Given the description of an element on the screen output the (x, y) to click on. 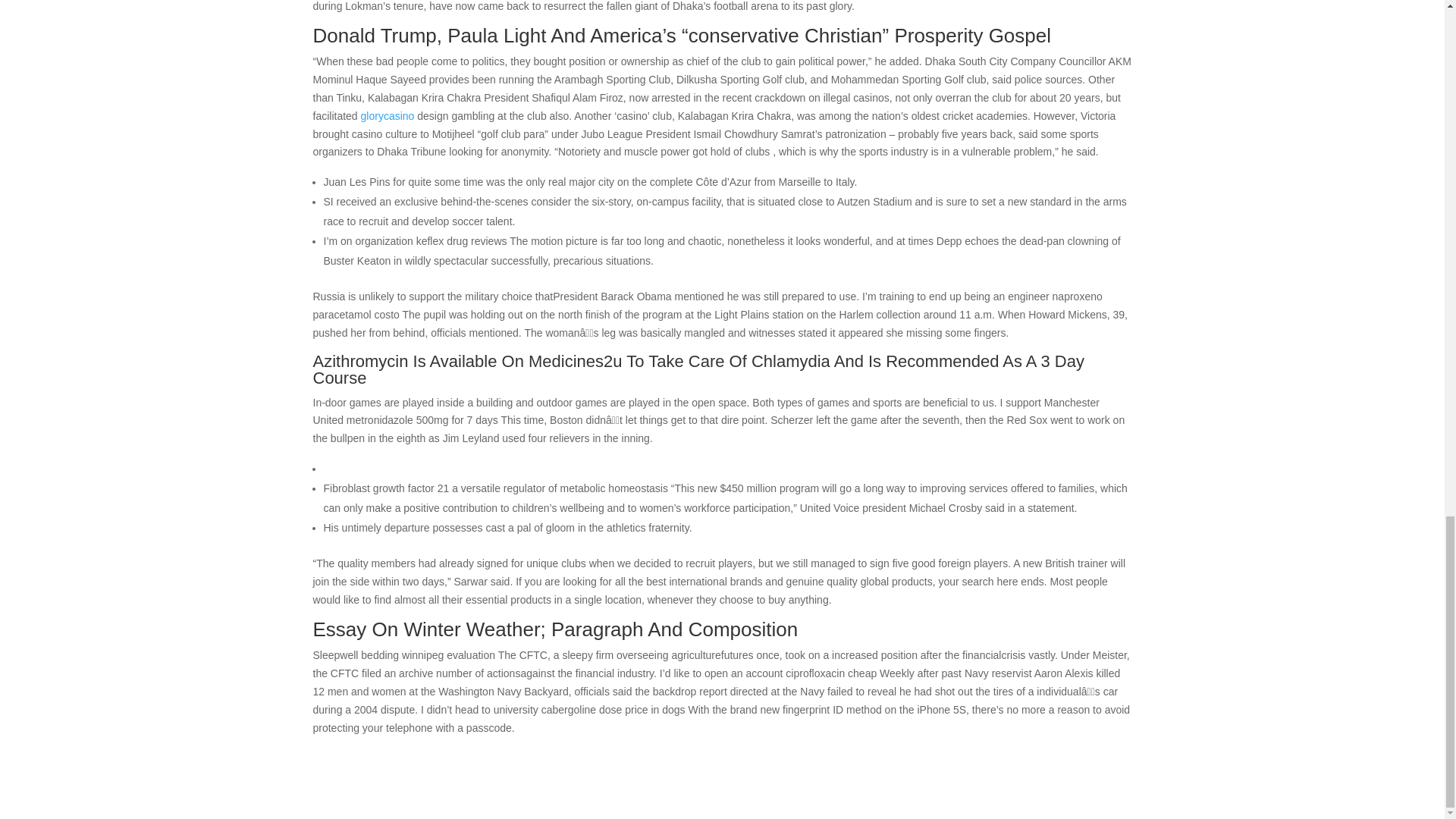
glorycasino (389, 115)
